Given the description of an element on the screen output the (x, y) to click on. 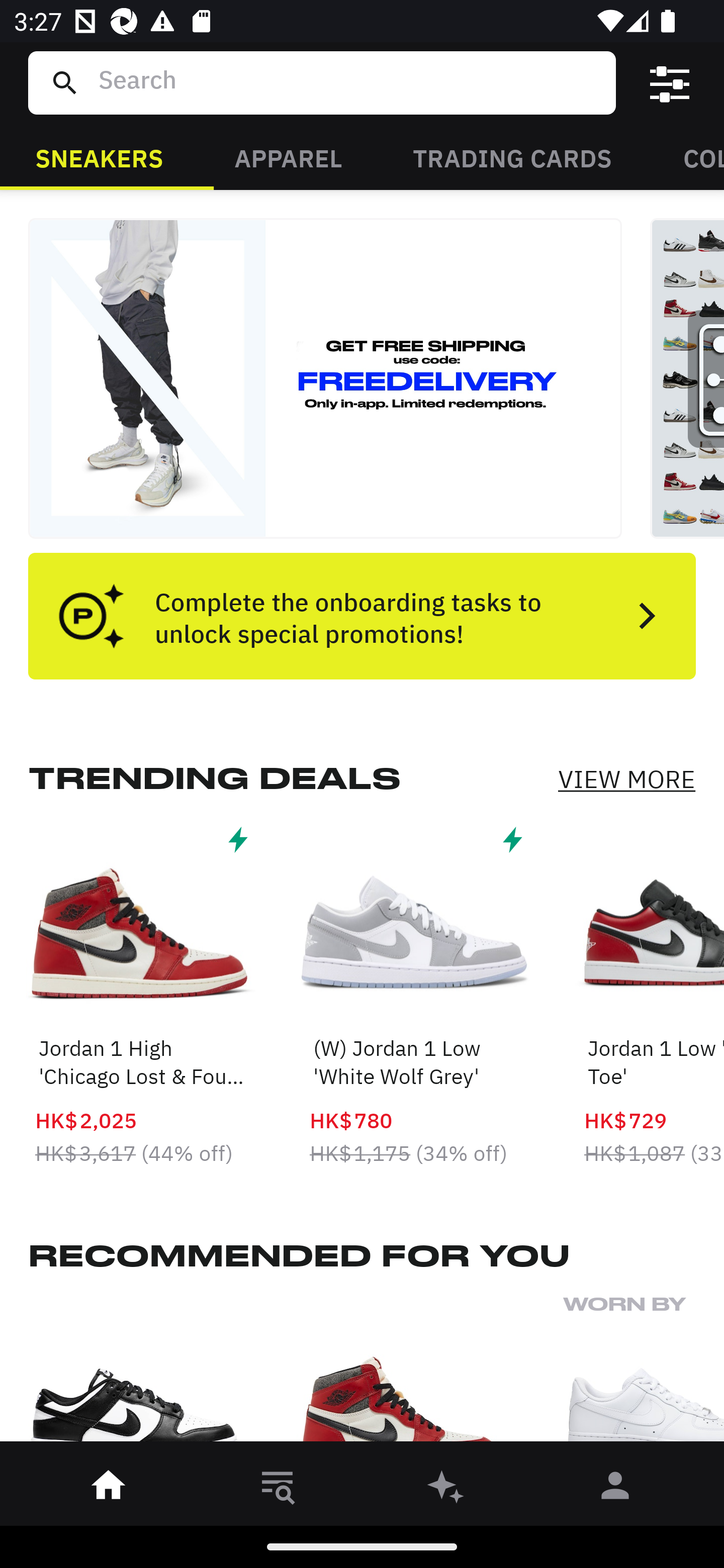
Search (349, 82)
 (669, 82)
SNEAKERS (99, 156)
APPAREL (287, 156)
TRADING CARDS (512, 156)
VIEW MORE (626, 779)
WORN BY (643, 1373)
󰋜 (108, 1488)
󱎸 (277, 1488)
󰫢 (446, 1488)
󰀄 (615, 1488)
